Given the description of an element on the screen output the (x, y) to click on. 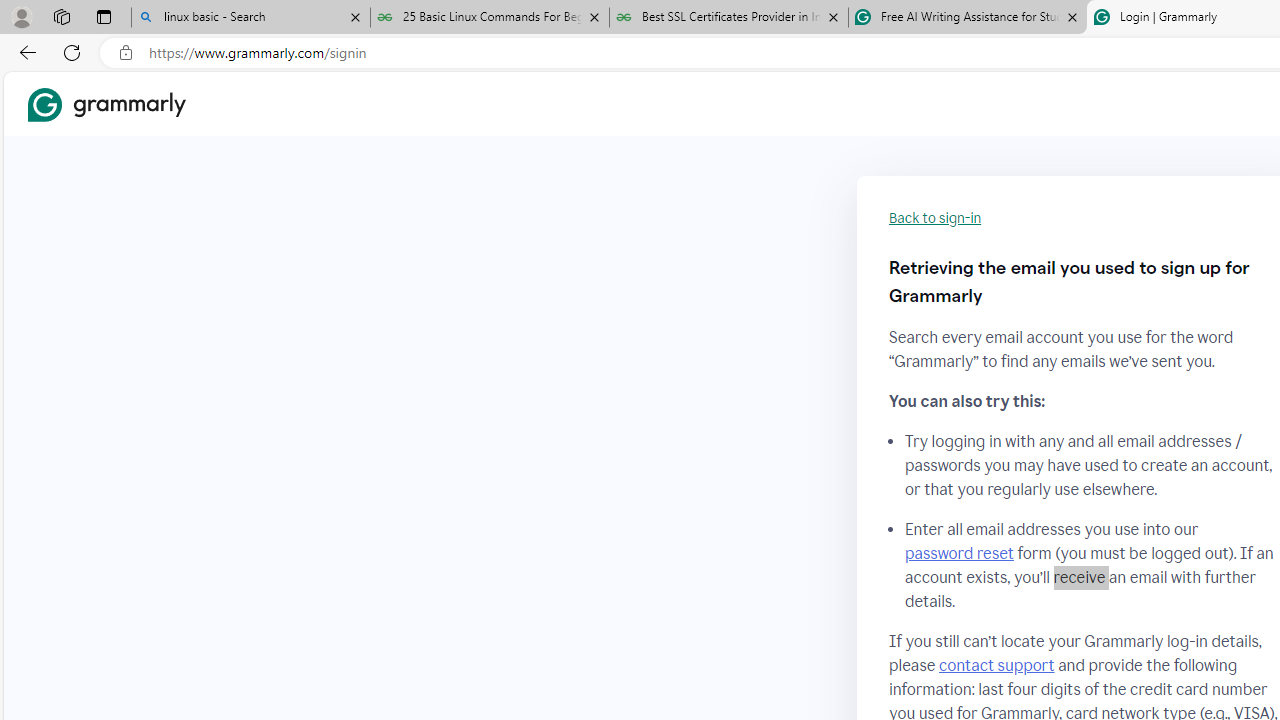
Back to sign-in (935, 218)
